Given the description of an element on the screen output the (x, y) to click on. 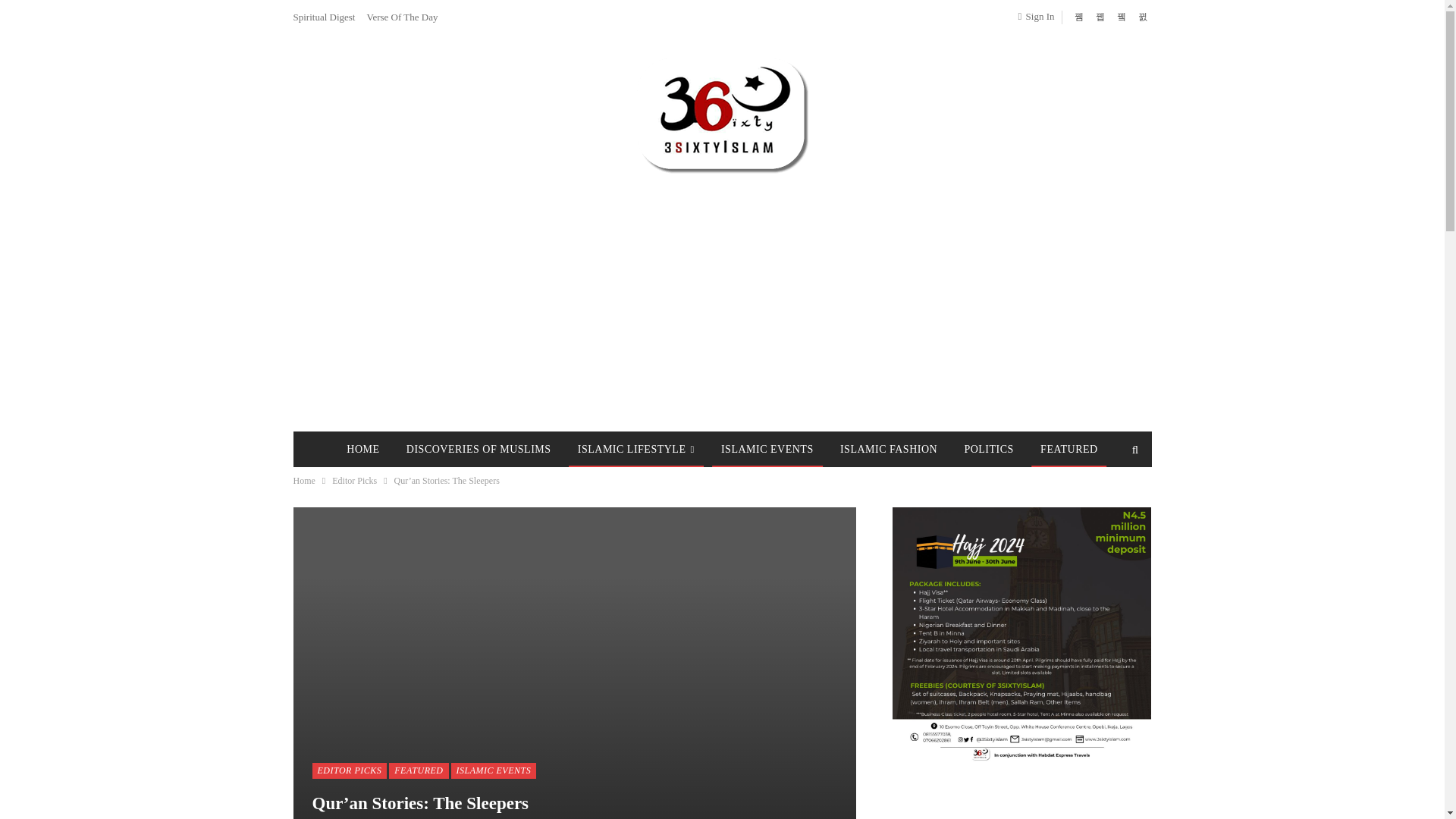
FEATURED (418, 770)
Sign In (1039, 16)
HOME (362, 449)
Home (303, 480)
Editor Picks (354, 480)
ISLAMIC FASHION (888, 449)
POLITICS (988, 449)
Verse Of The Day (402, 16)
Spiritual Digest (323, 16)
